Given the description of an element on the screen output the (x, y) to click on. 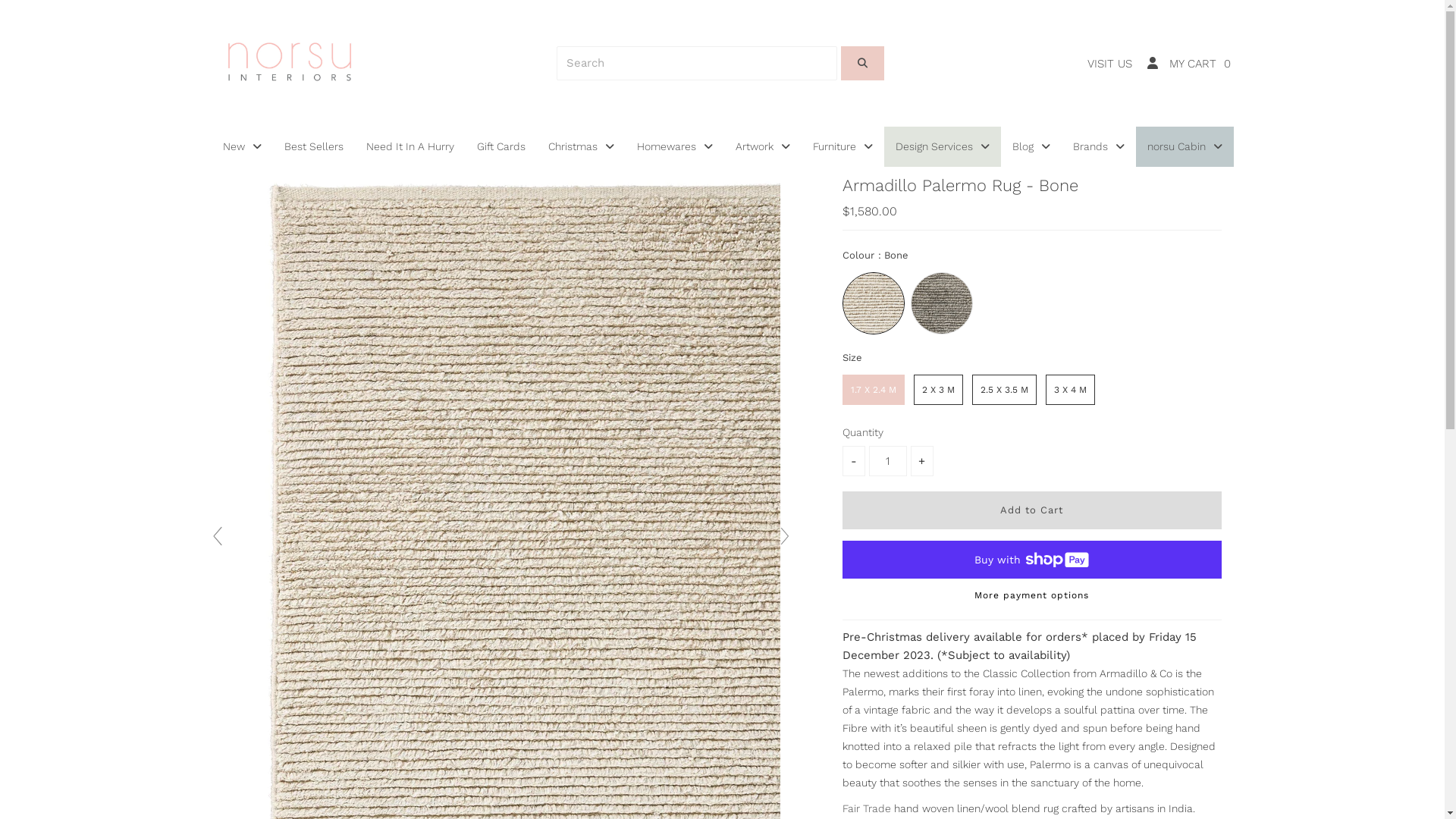
VISIT US Element type: text (1109, 63)
Brands Element type: text (1098, 146)
Fair Trade Element type: text (866, 808)
Best Sellers Element type: text (313, 146)
Hover to zoom Element type: text (501, 542)
New Element type: text (241, 146)
Add to Cart Element type: text (1031, 510)
Need It In A Hurry Element type: text (409, 146)
MY CART  0 Element type: text (1199, 63)
- Element type: text (853, 460)
Furniture Element type: text (841, 146)
Gift Cards Element type: text (500, 146)
Homewares Element type: text (673, 146)
More payment options Element type: text (1031, 598)
+ Element type: text (921, 460)
Design Services Element type: text (942, 146)
norsu Cabin Element type: text (1184, 146)
Christmas Element type: text (580, 146)
Blog Element type: text (1031, 146)
Artwork Element type: text (761, 146)
